Given the description of an element on the screen output the (x, y) to click on. 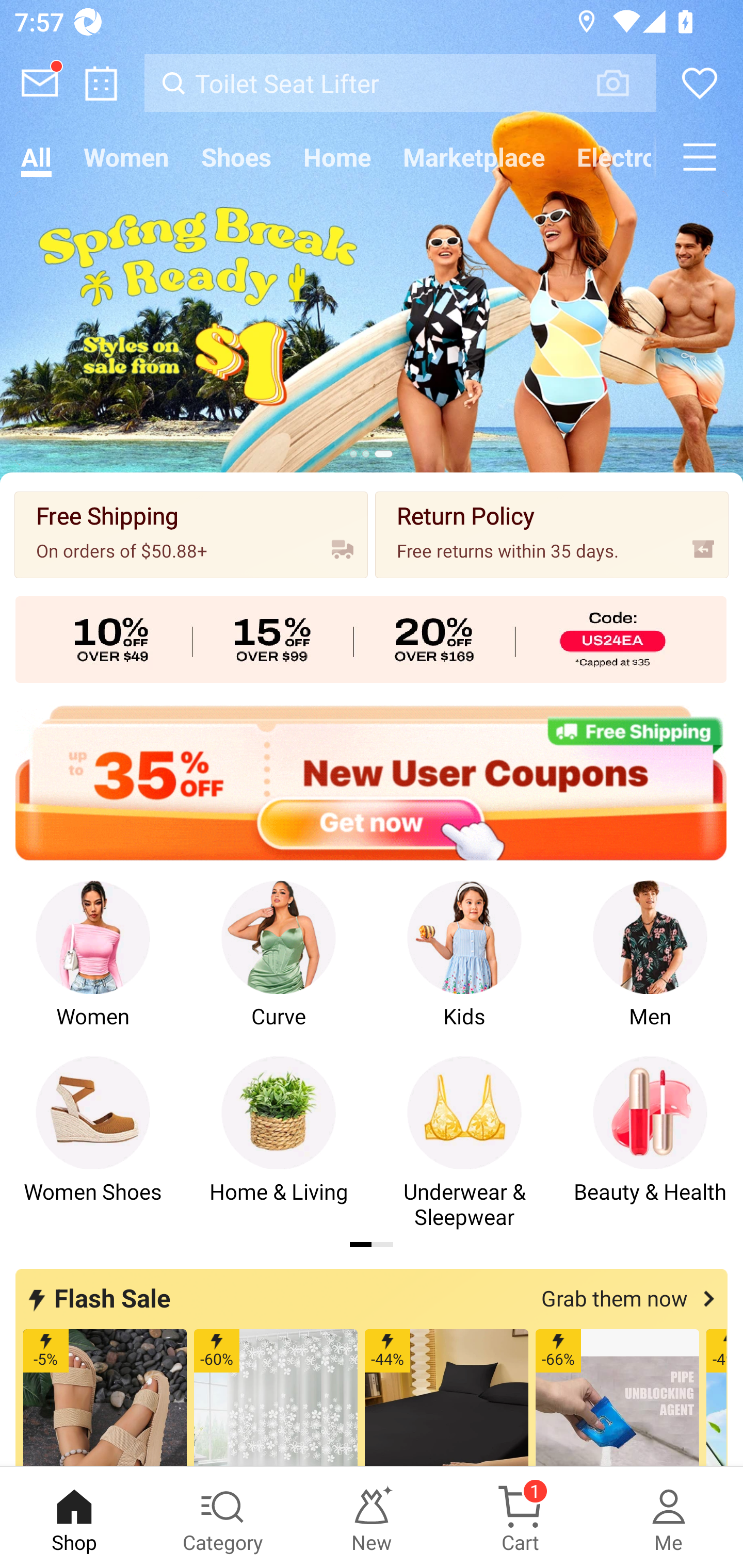
Wishlist (699, 82)
VISUAL SEARCH (623, 82)
All (36, 156)
Women (126, 156)
Shoes (236, 156)
Home (337, 156)
Marketplace (473, 156)
Electronics (608, 156)
Free Shipping On orders of $50.88+ (190, 534)
Return Policy Free returns within 35 days. (551, 534)
Women (92, 968)
Curve (278, 968)
Kids (464, 968)
Men (650, 968)
Women Shoes (92, 1142)
Home & Living (278, 1142)
Underwear & Sleepwear (464, 1142)
Beauty & Health (650, 1142)
Category (222, 1517)
New (371, 1517)
Cart 1 Cart (519, 1517)
Me (668, 1517)
